Given the description of an element on the screen output the (x, y) to click on. 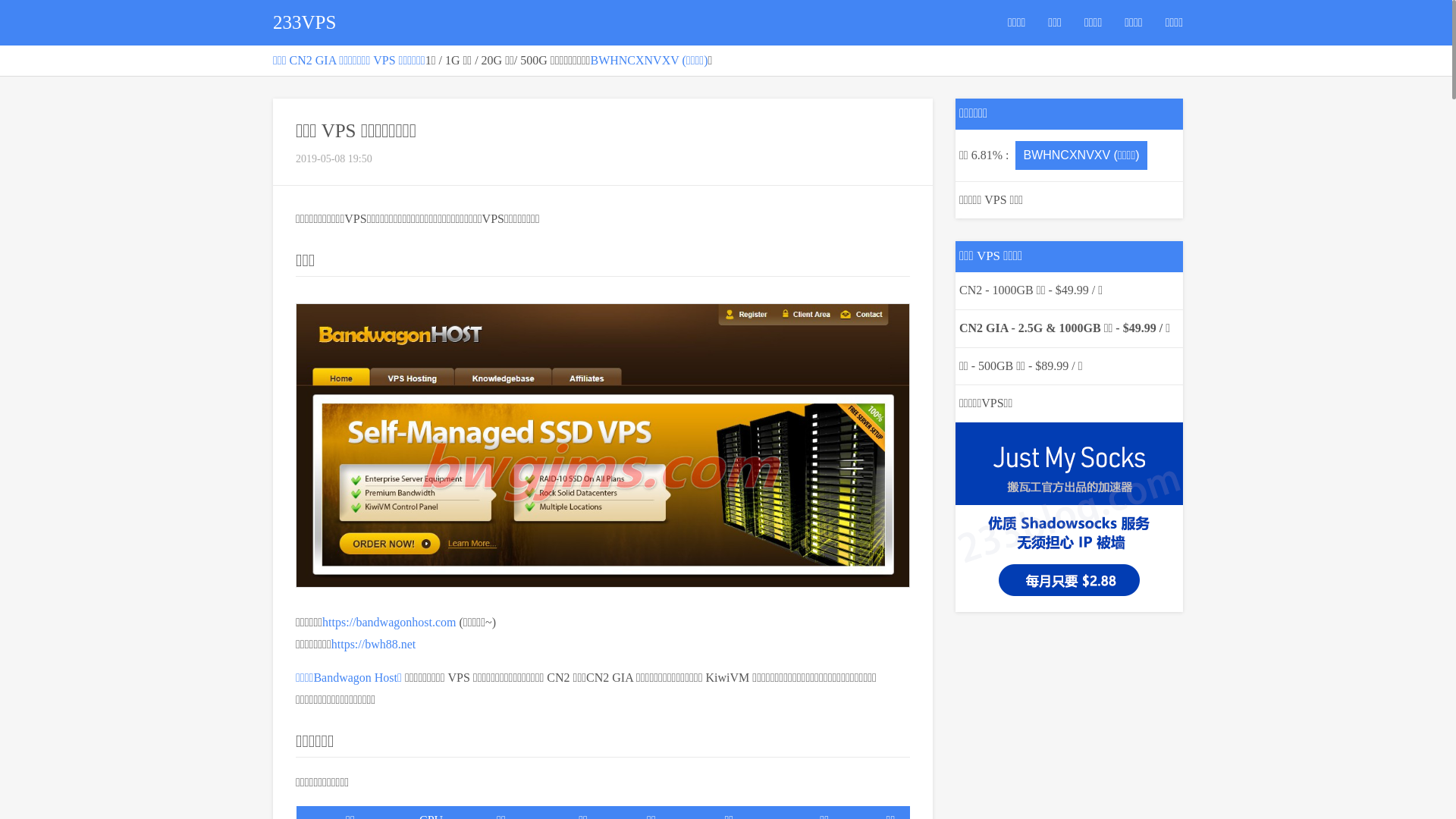
https://bwh88.net Element type: text (373, 643)
233VPS Element type: text (304, 22)
https://bandwagonhost.com Element type: text (388, 621)
